Given the description of an element on the screen output the (x, y) to click on. 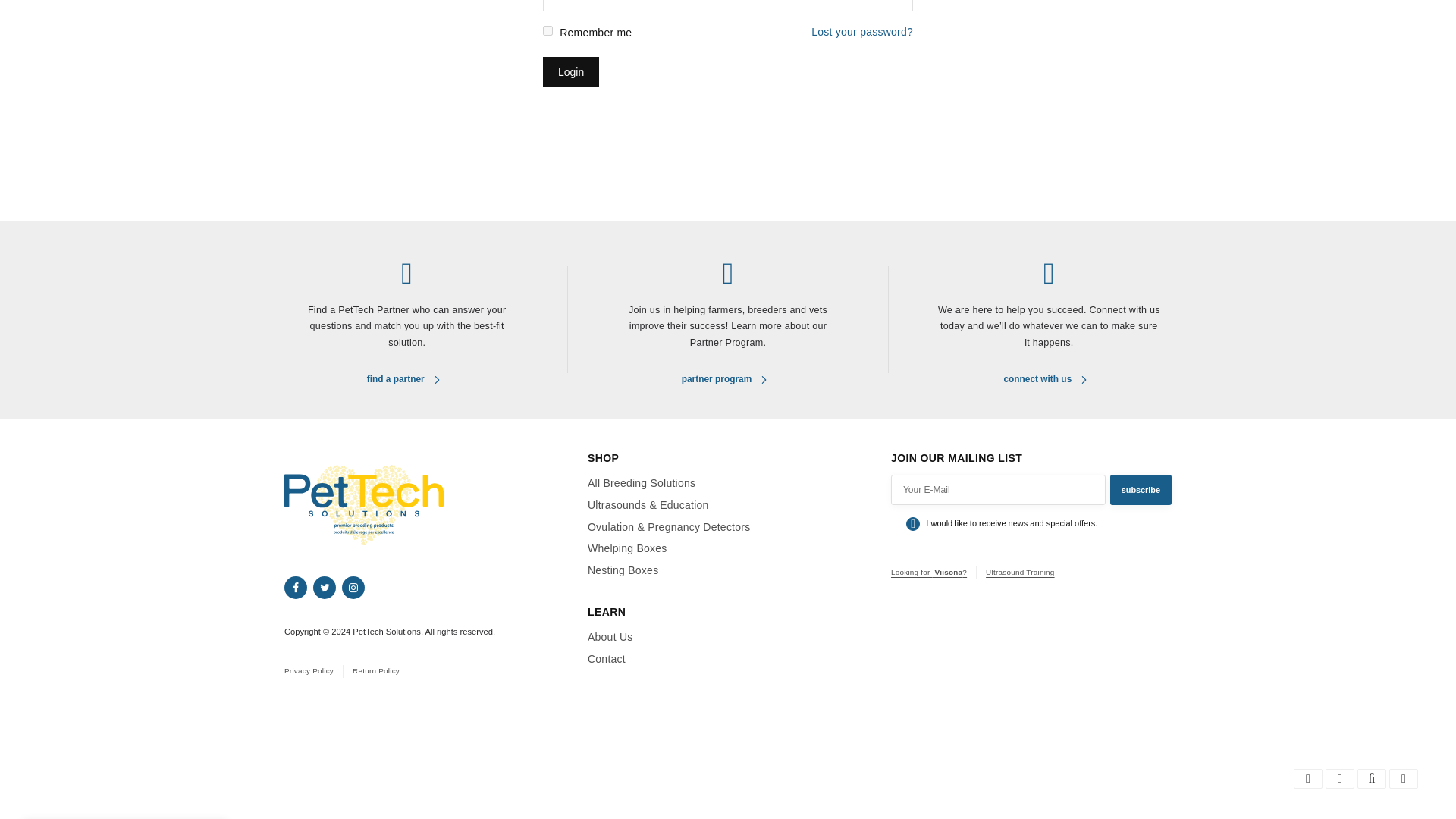
forever (548, 30)
partner program (727, 380)
Return Policy (375, 670)
Privacy Policy (308, 670)
find a partner (406, 380)
Lost your password? (861, 34)
Login (570, 71)
connect with us (1048, 380)
